Given the description of an element on the screen output the (x, y) to click on. 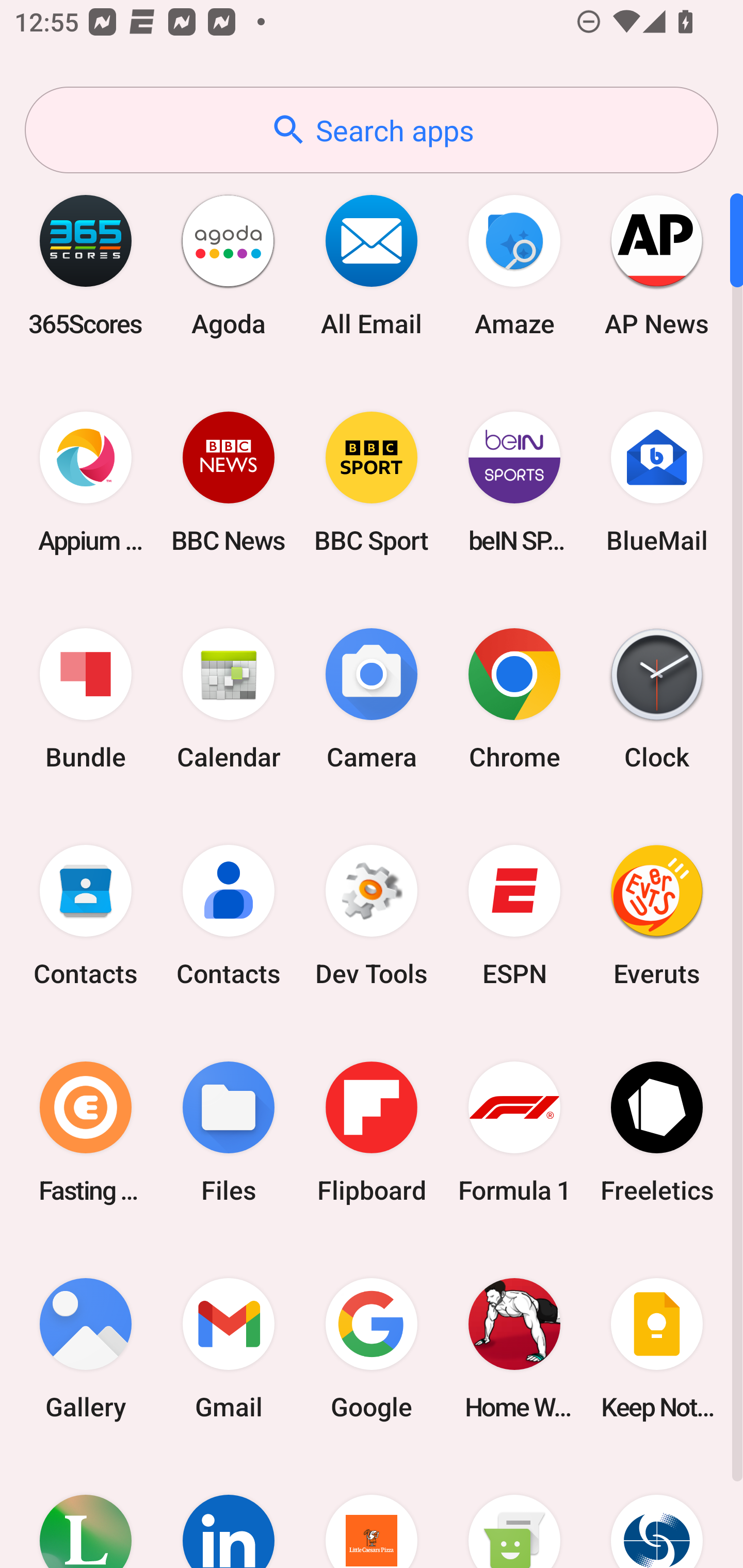
  Search apps (371, 130)
365Scores (85, 264)
Agoda (228, 264)
All Email (371, 264)
Amaze (514, 264)
AP News (656, 264)
Appium Settings (85, 482)
BBC News (228, 482)
BBC Sport (371, 482)
beIN SPORTS (514, 482)
BlueMail (656, 482)
Bundle (85, 699)
Calendar (228, 699)
Camera (371, 699)
Chrome (514, 699)
Clock (656, 699)
Contacts (85, 915)
Contacts (228, 915)
Dev Tools (371, 915)
ESPN (514, 915)
Everuts (656, 915)
Fasting Coach (85, 1131)
Files (228, 1131)
Flipboard (371, 1131)
Formula 1 (514, 1131)
Freeletics (656, 1131)
Gallery (85, 1348)
Gmail (228, 1348)
Google (371, 1348)
Home Workout (514, 1348)
Keep Notes (656, 1348)
